Given the description of an element on the screen output the (x, y) to click on. 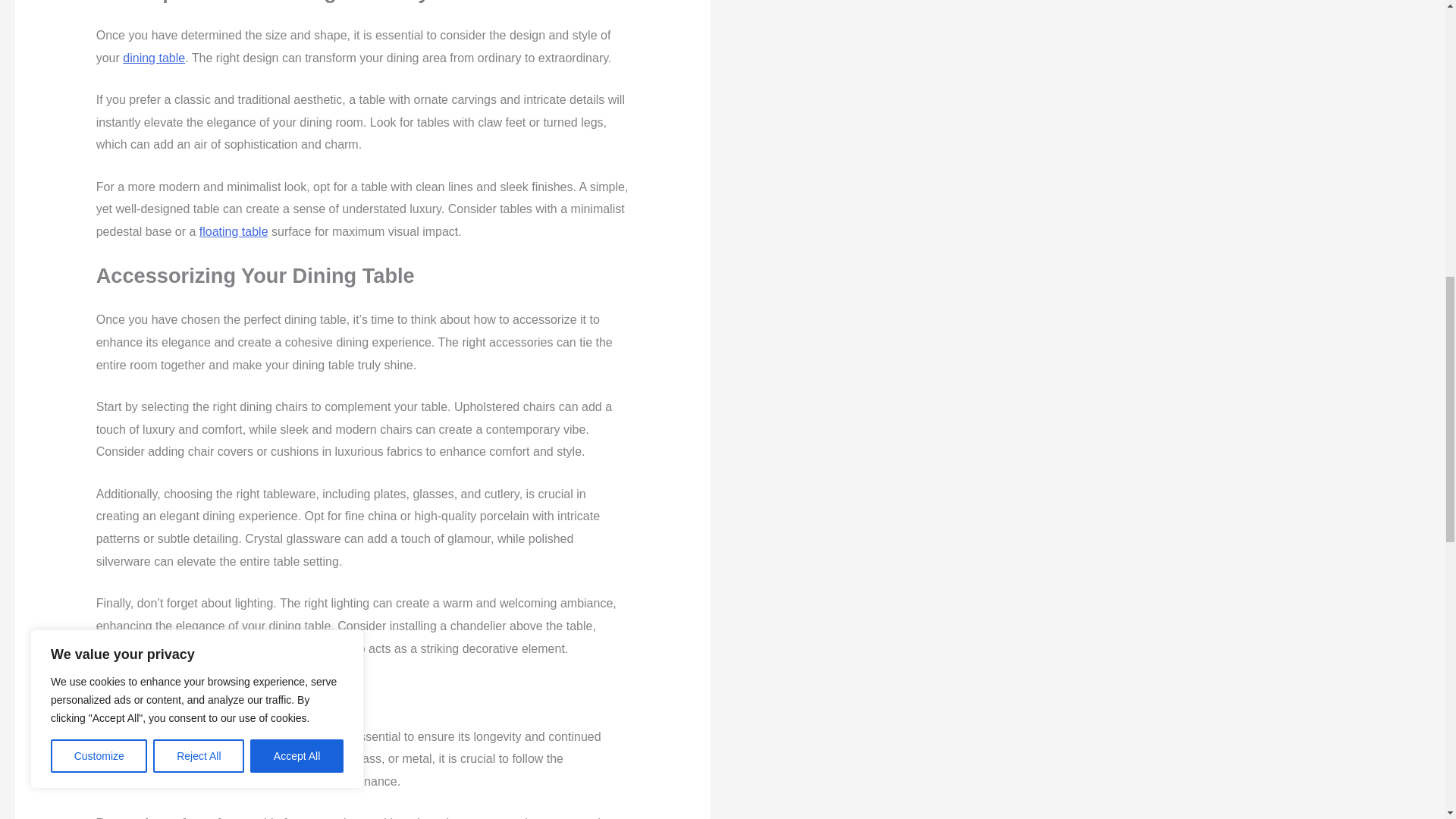
floating table (233, 231)
dining table (153, 57)
